Given the description of an element on the screen output the (x, y) to click on. 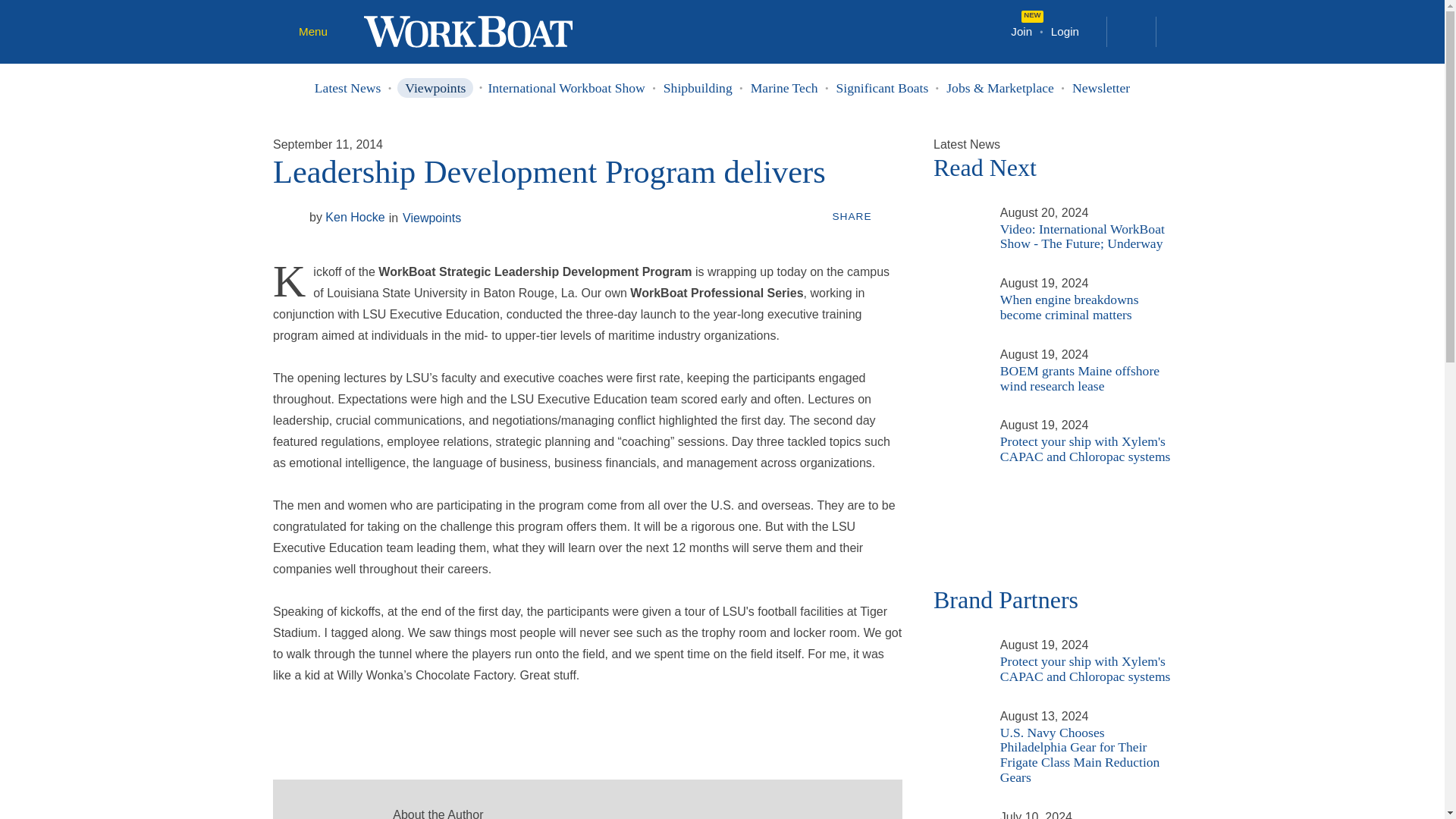
When engine breakdowns become criminal matters (957, 281)
Video: International WorkBoat Show - The Future; Underway (957, 211)
WorkBoat (468, 30)
Ken Hocke (631, 813)
Ken Hocke (287, 216)
Ken Hocke (346, 217)
Ken Hocke (325, 814)
